Given the description of an element on the screen output the (x, y) to click on. 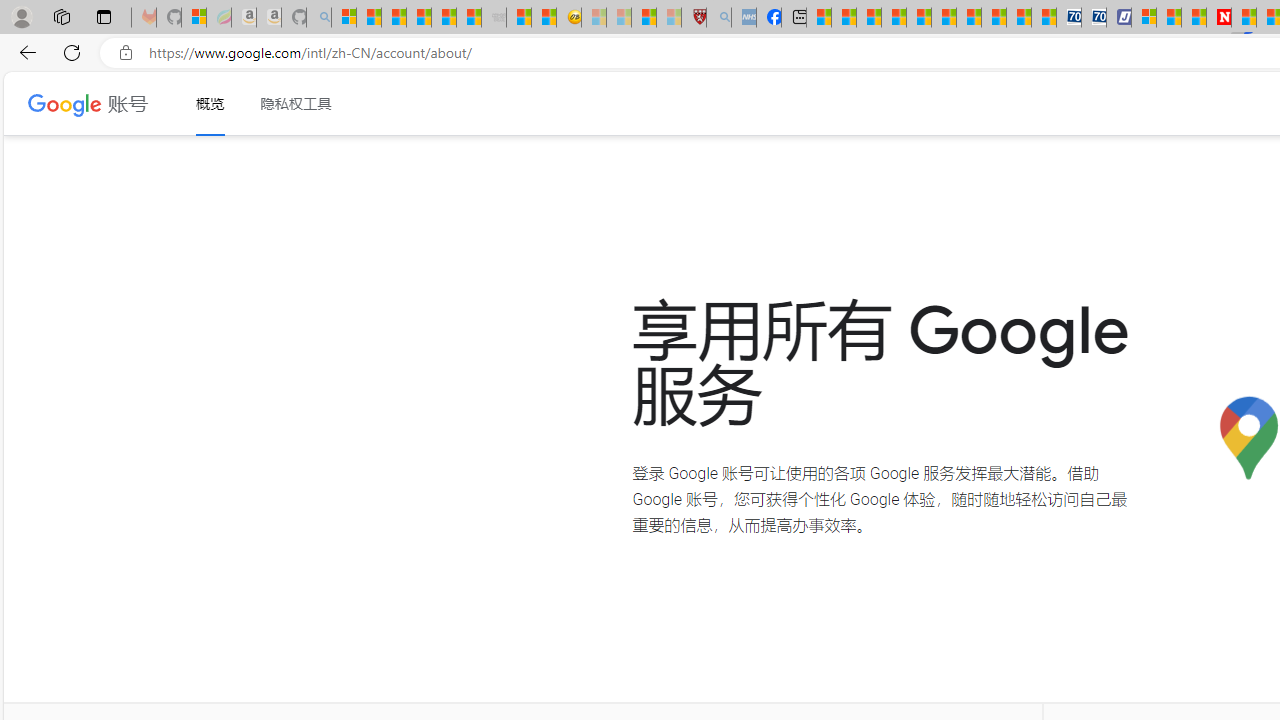
12 Popular Science Lies that Must be Corrected - Sleeping (668, 17)
